Given the description of an element on the screen output the (x, y) to click on. 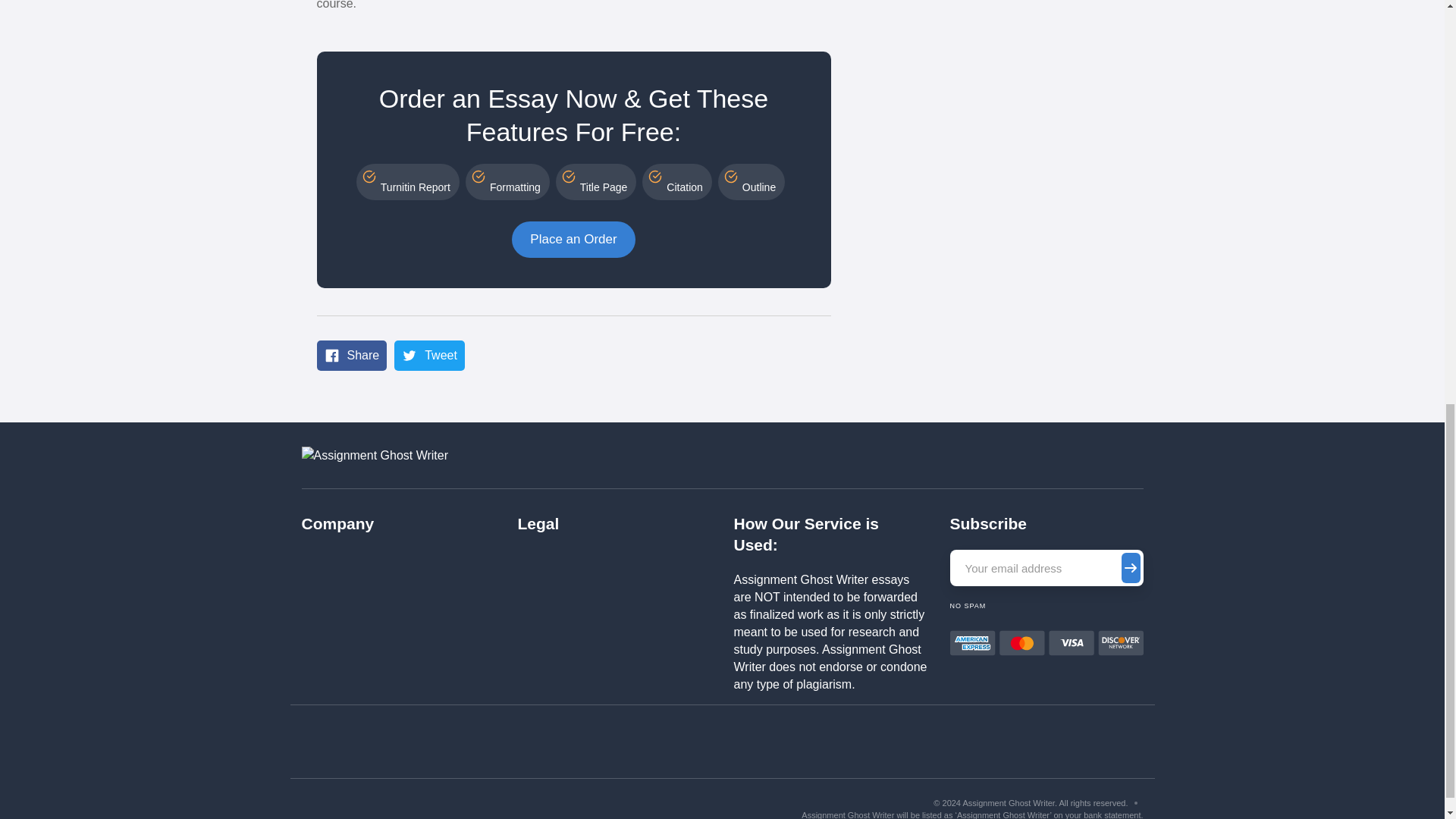
Place an Order (573, 239)
Share (352, 355)
Tweet (429, 355)
